Given the description of an element on the screen output the (x, y) to click on. 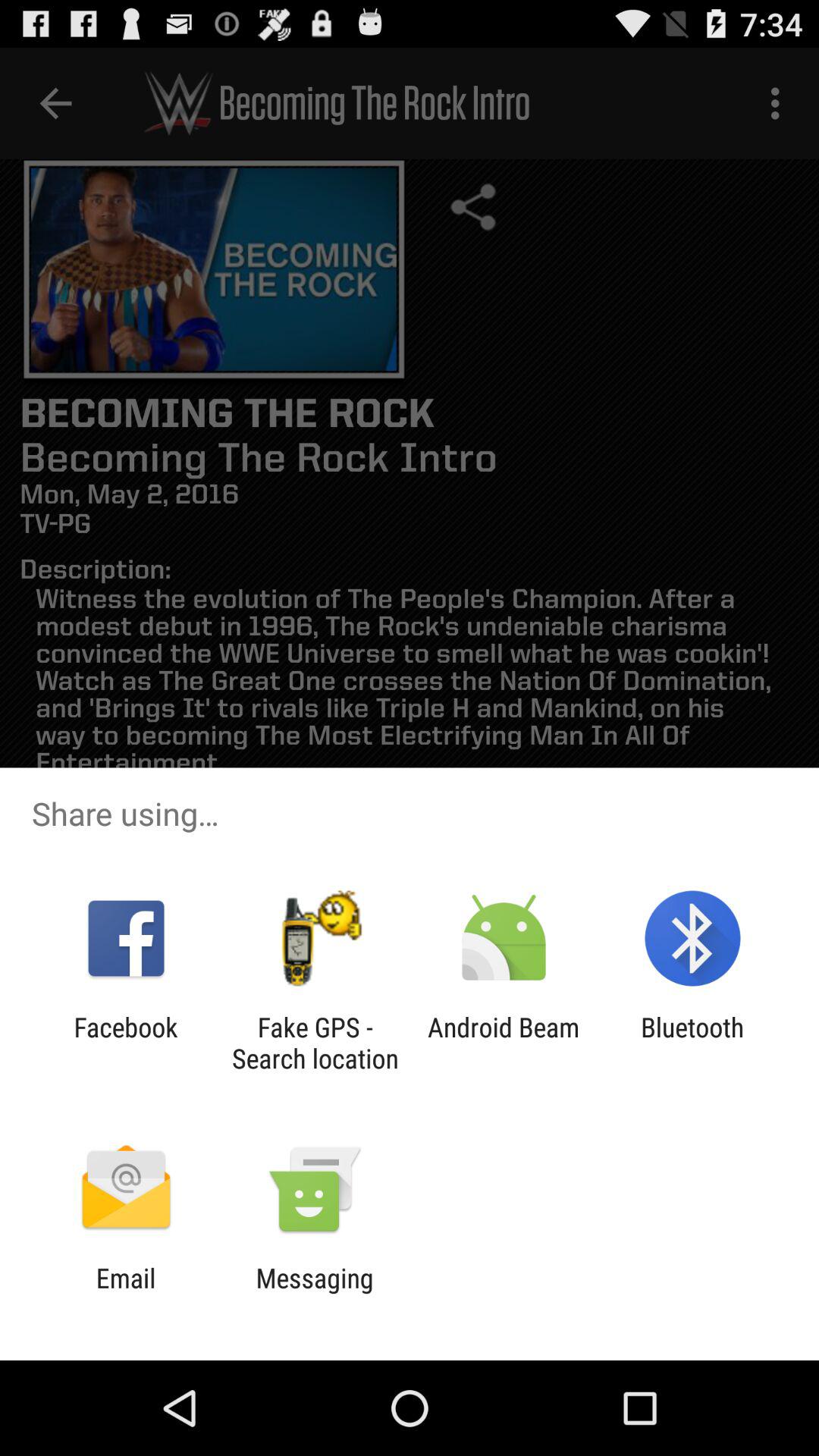
select app at the bottom right corner (691, 1042)
